Given the description of an element on the screen output the (x, y) to click on. 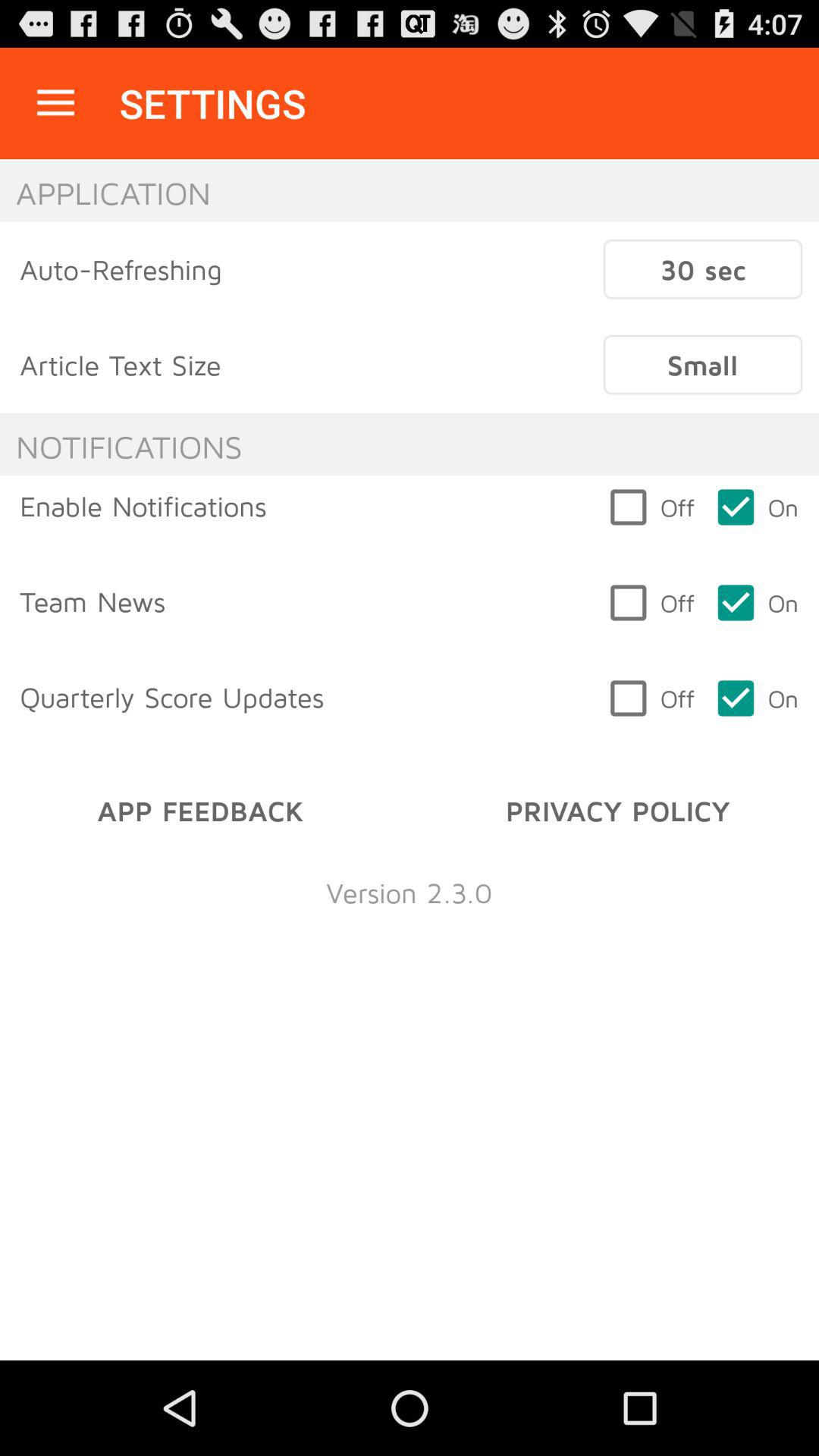
open icon to the left of settings app (55, 103)
